Given the description of an element on the screen output the (x, y) to click on. 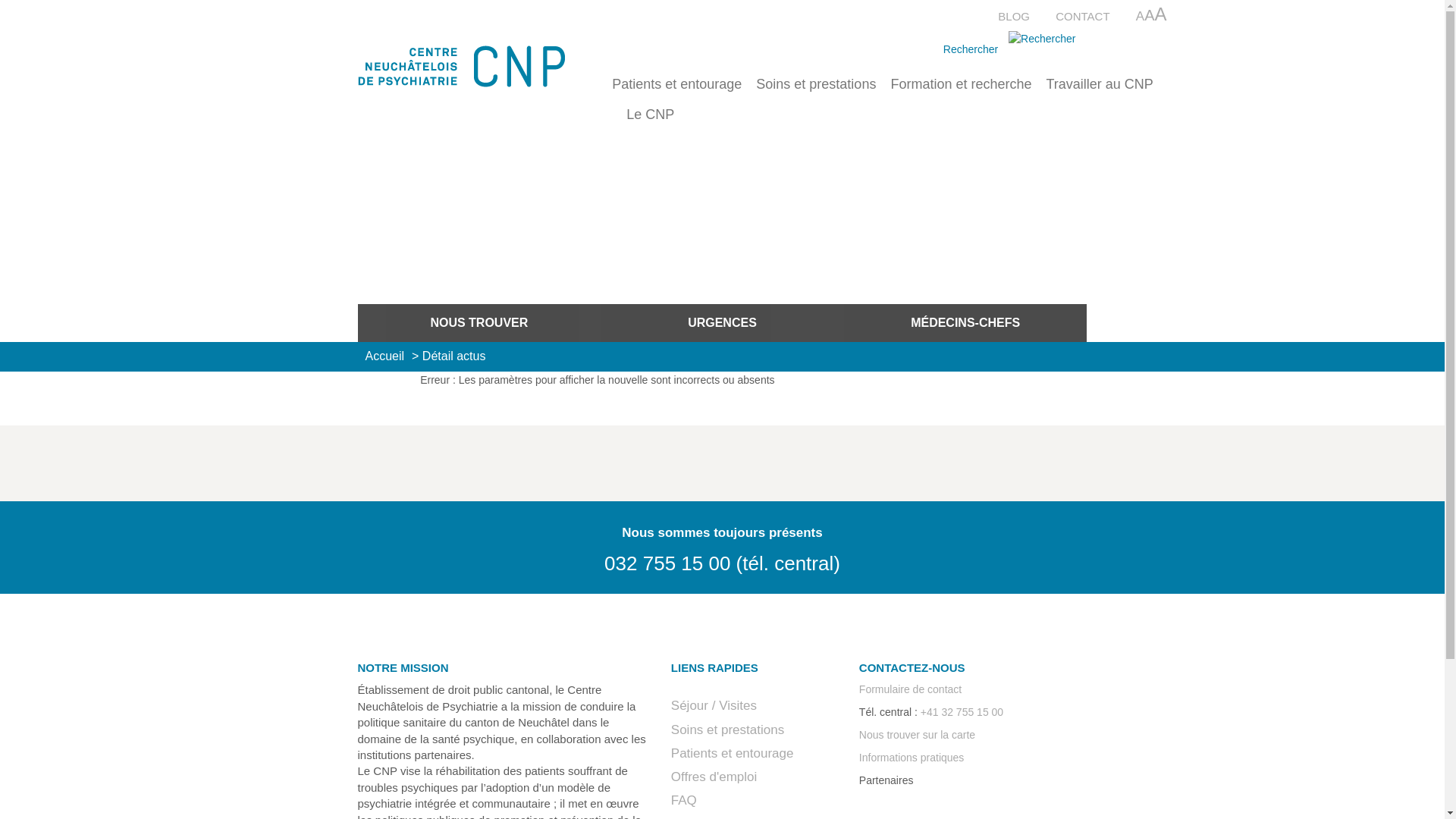
NOUS TROUVER Element type: text (478, 322)
Formation et recherche Element type: text (960, 91)
+41 32 755 15 00 Element type: text (961, 712)
URGENCES Element type: text (721, 322)
Accueil Element type: text (384, 355)
Offres d'emploi Element type: text (713, 776)
Travailler au CNP Element type: text (1098, 91)
Patients et entourage Element type: text (676, 91)
Le CNP Element type: text (650, 121)
Soins et prestations Element type: text (815, 91)
A Element type: text (1160, 13)
Nous trouver sur la carte Element type: text (917, 734)
Formulaire de contact Element type: text (910, 689)
Soins et prestations Element type: text (727, 729)
Patients et entourage Element type: text (732, 753)
A Element type: text (1149, 14)
Accueil Element type: hover (473, 66)
BLOG Element type: text (1013, 15)
A Element type: text (1139, 16)
FAQ Element type: text (683, 800)
032 755 15 00 Element type: text (667, 563)
CONTACT Element type: text (1082, 15)
Informations pratiques Element type: text (911, 757)
